Given the description of an element on the screen output the (x, y) to click on. 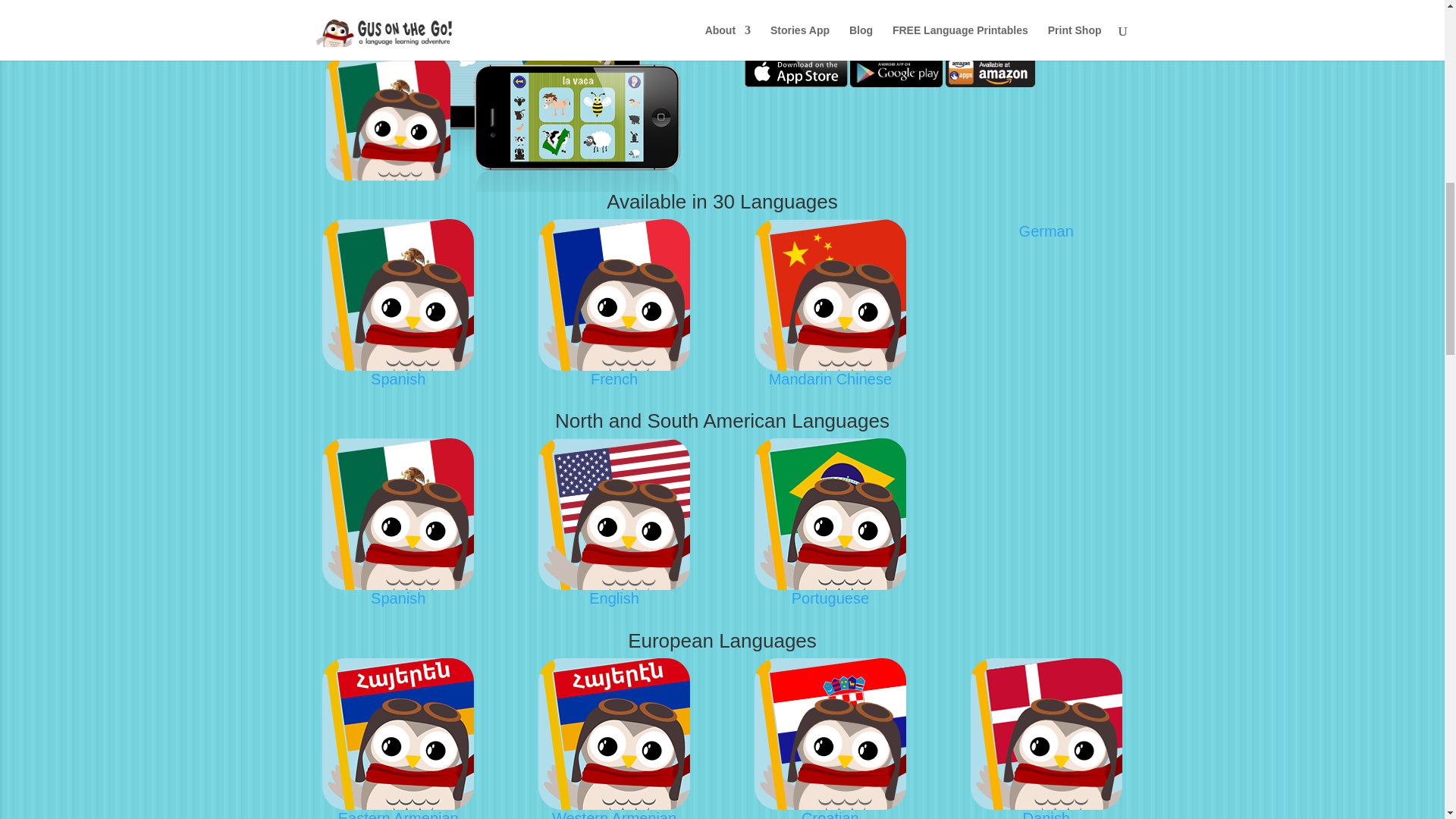
Spanish (398, 379)
Mandarin Chinese (829, 379)
German (1046, 230)
French (614, 379)
